Given the description of an element on the screen output the (x, y) to click on. 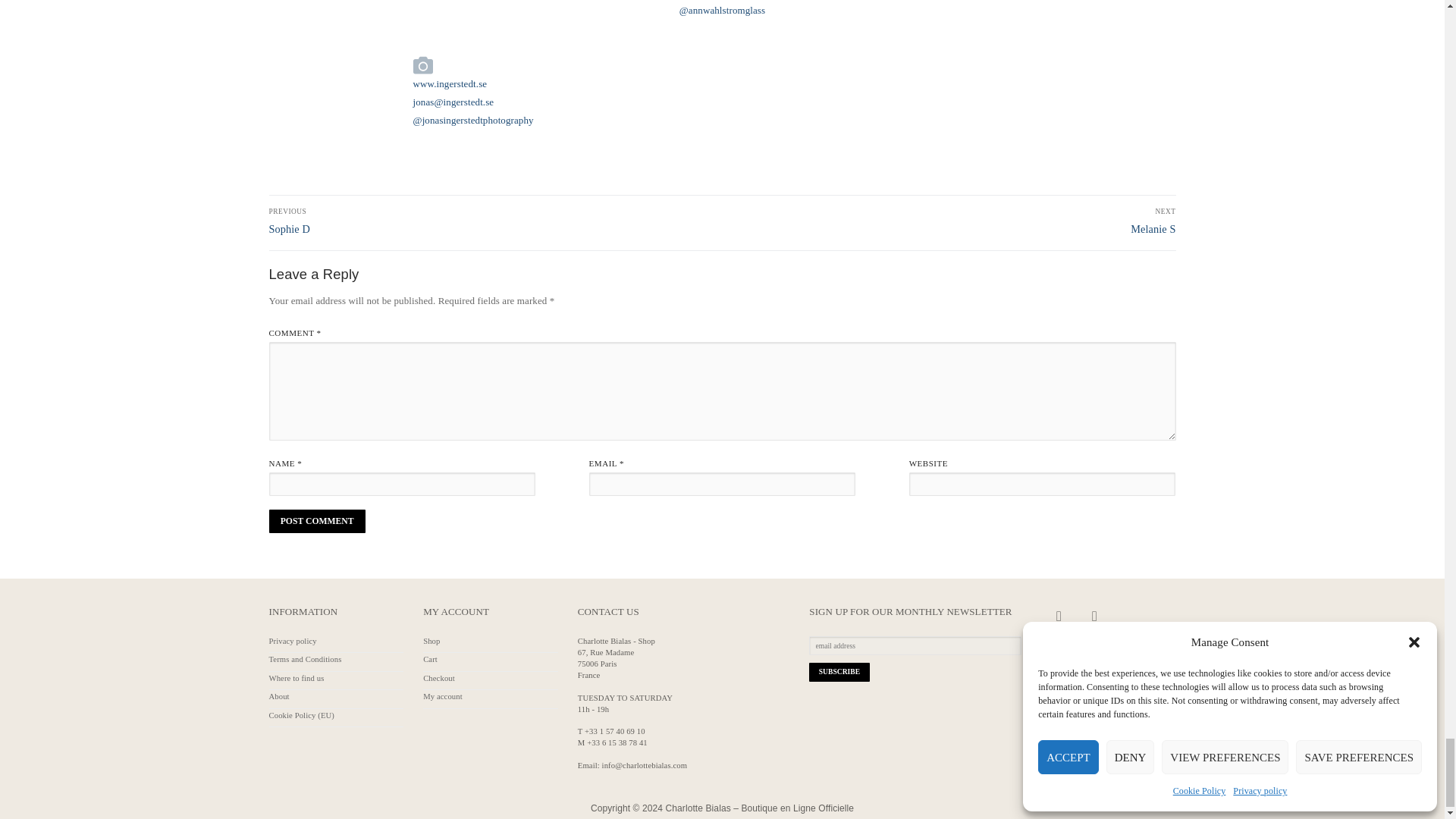
Subscribe (839, 671)
Post Comment (316, 520)
